Given the description of an element on the screen output the (x, y) to click on. 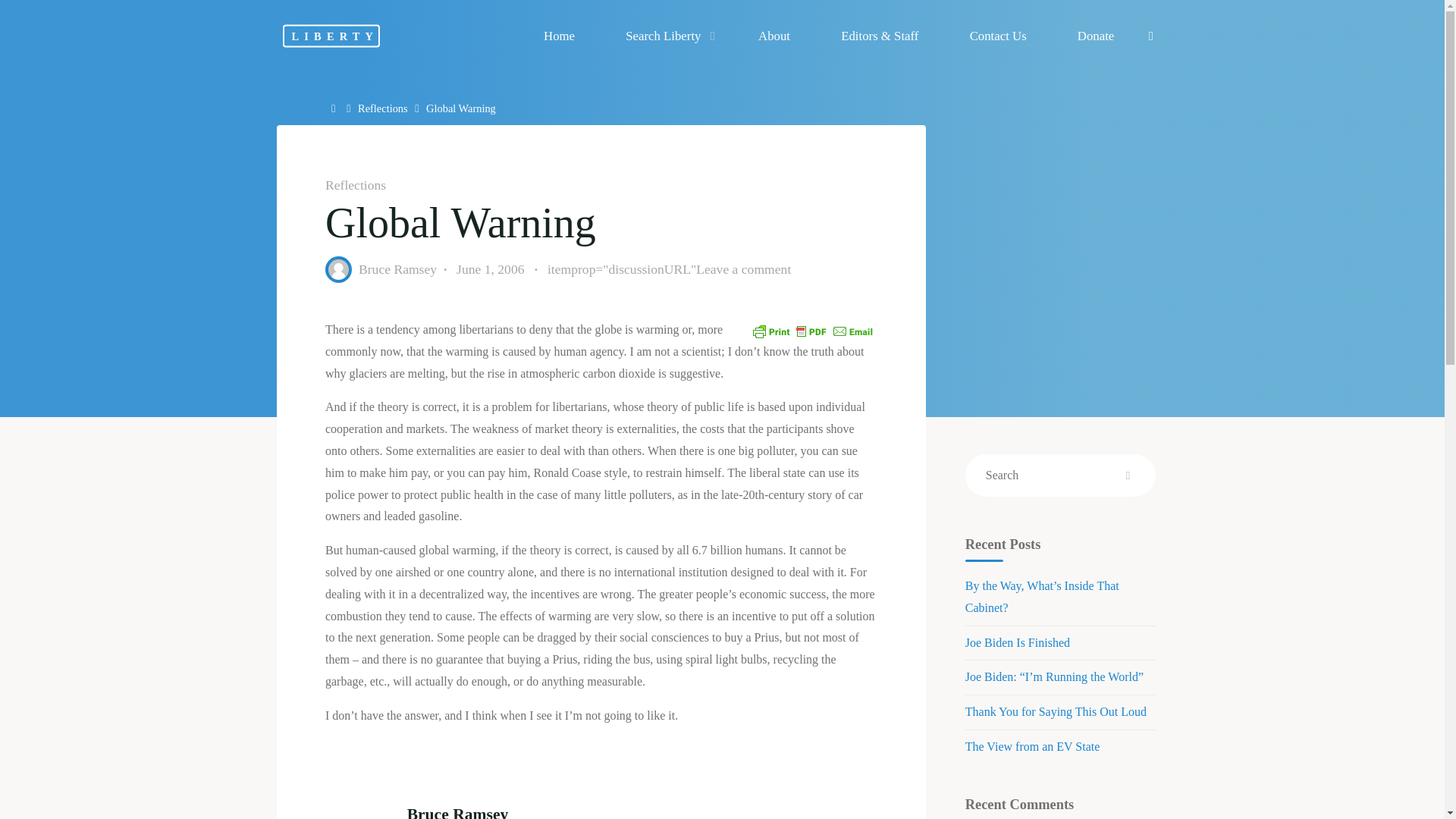
About (773, 35)
LIBERTY (331, 35)
Search Liberty (666, 35)
Leave a comment (742, 268)
Reflections (354, 184)
Donate (1095, 35)
Home (334, 108)
Contact Us (997, 35)
View all posts by Bruce Ramsey (396, 268)
Jump to comments (668, 269)
Home (334, 108)
Reflections (382, 108)
Bruce Ramsey (396, 268)
Home (558, 35)
